Given the description of an element on the screen output the (x, y) to click on. 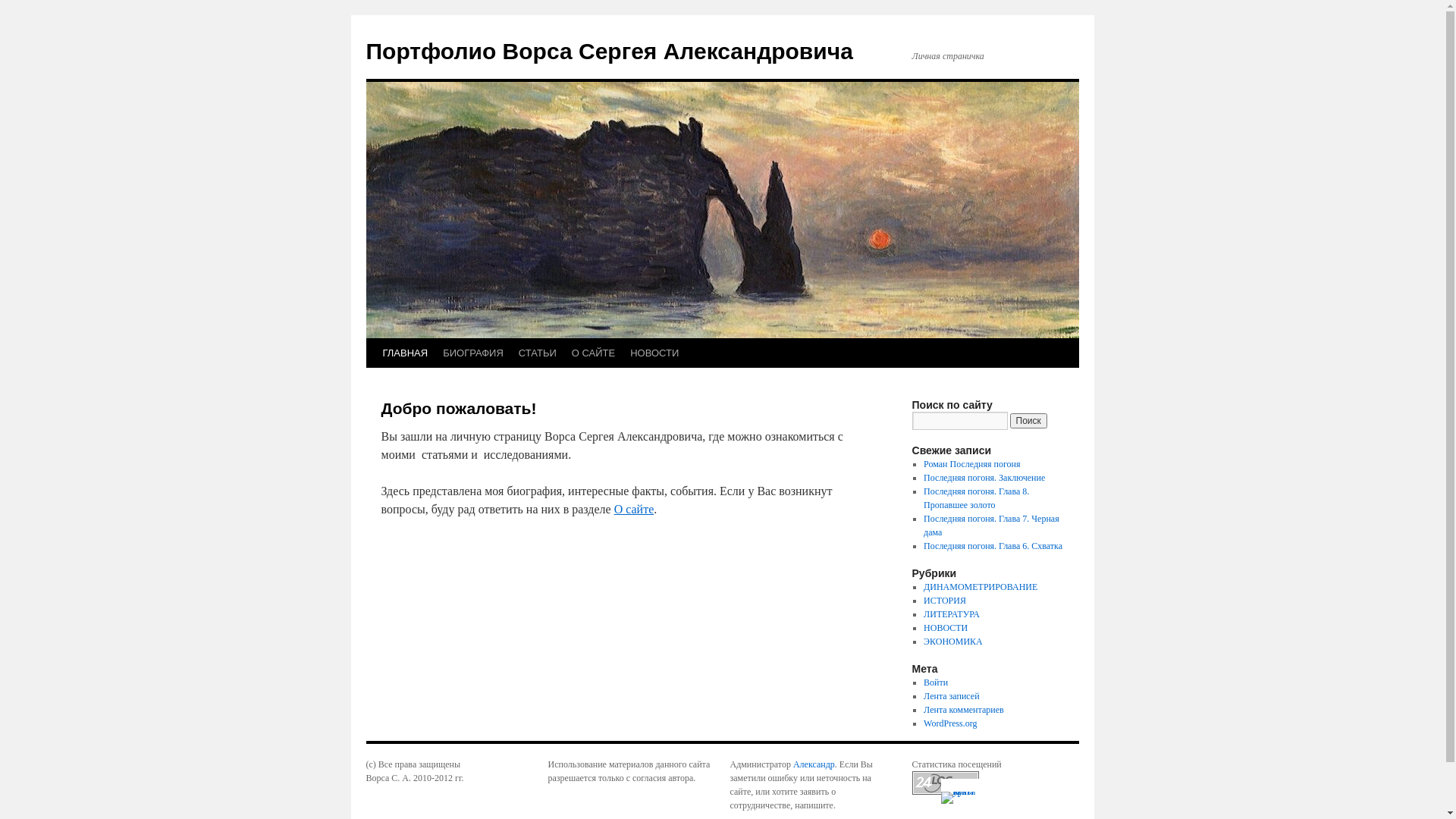
WordPress.org Element type: text (949, 723)
